Given the description of an element on the screen output the (x, y) to click on. 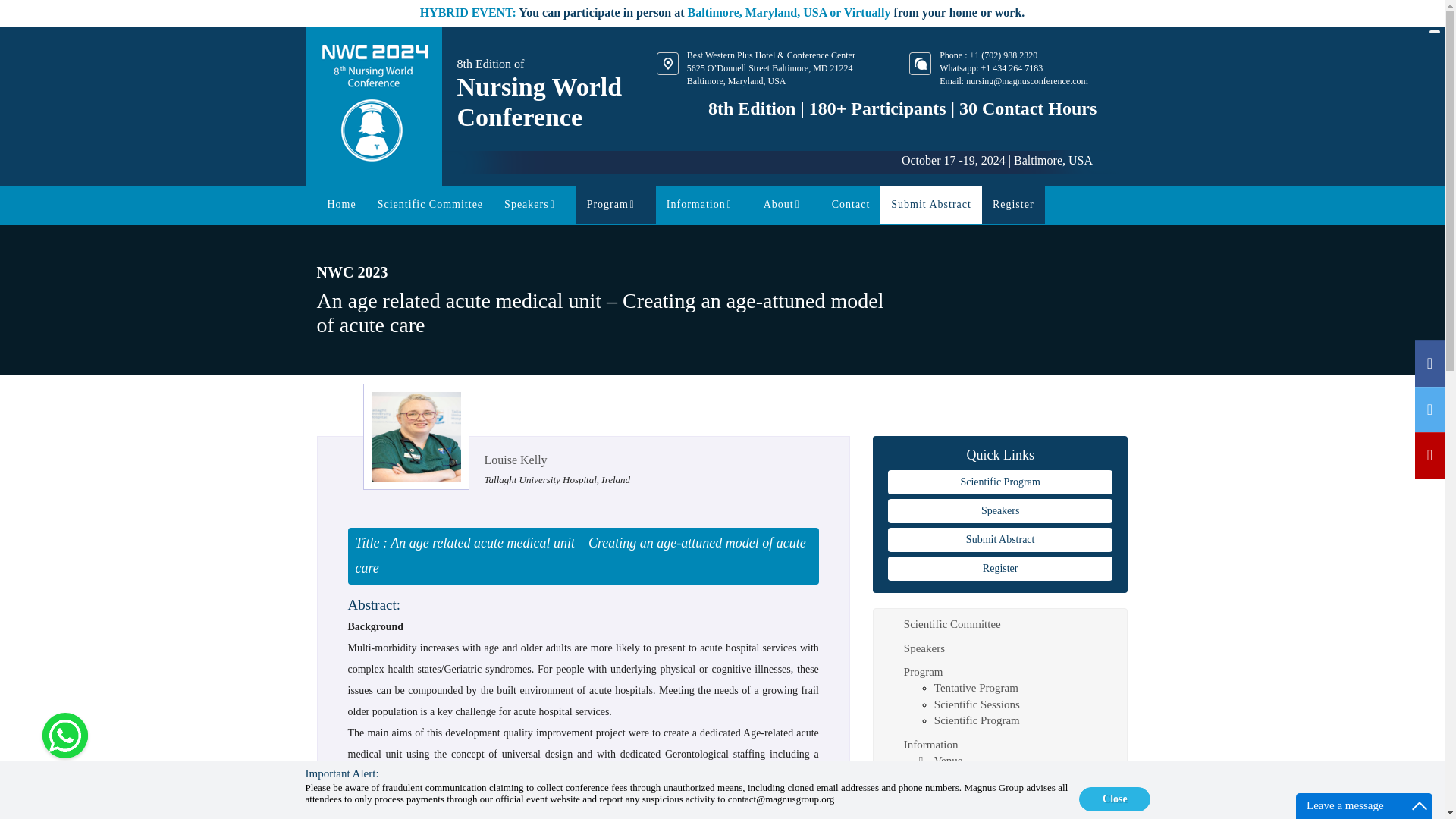
Home (341, 204)
Submit Abstract (1000, 539)
Speakers (534, 204)
Speakers (1000, 510)
Maximize (1419, 805)
Program (616, 204)
Scientific Committee (429, 204)
Program (616, 204)
Home (341, 204)
Information (704, 204)
Louise Kelly (515, 459)
Contact (850, 204)
Scientific Committee (429, 204)
Submit Abstract (930, 204)
Register (1013, 204)
